Given the description of an element on the screen output the (x, y) to click on. 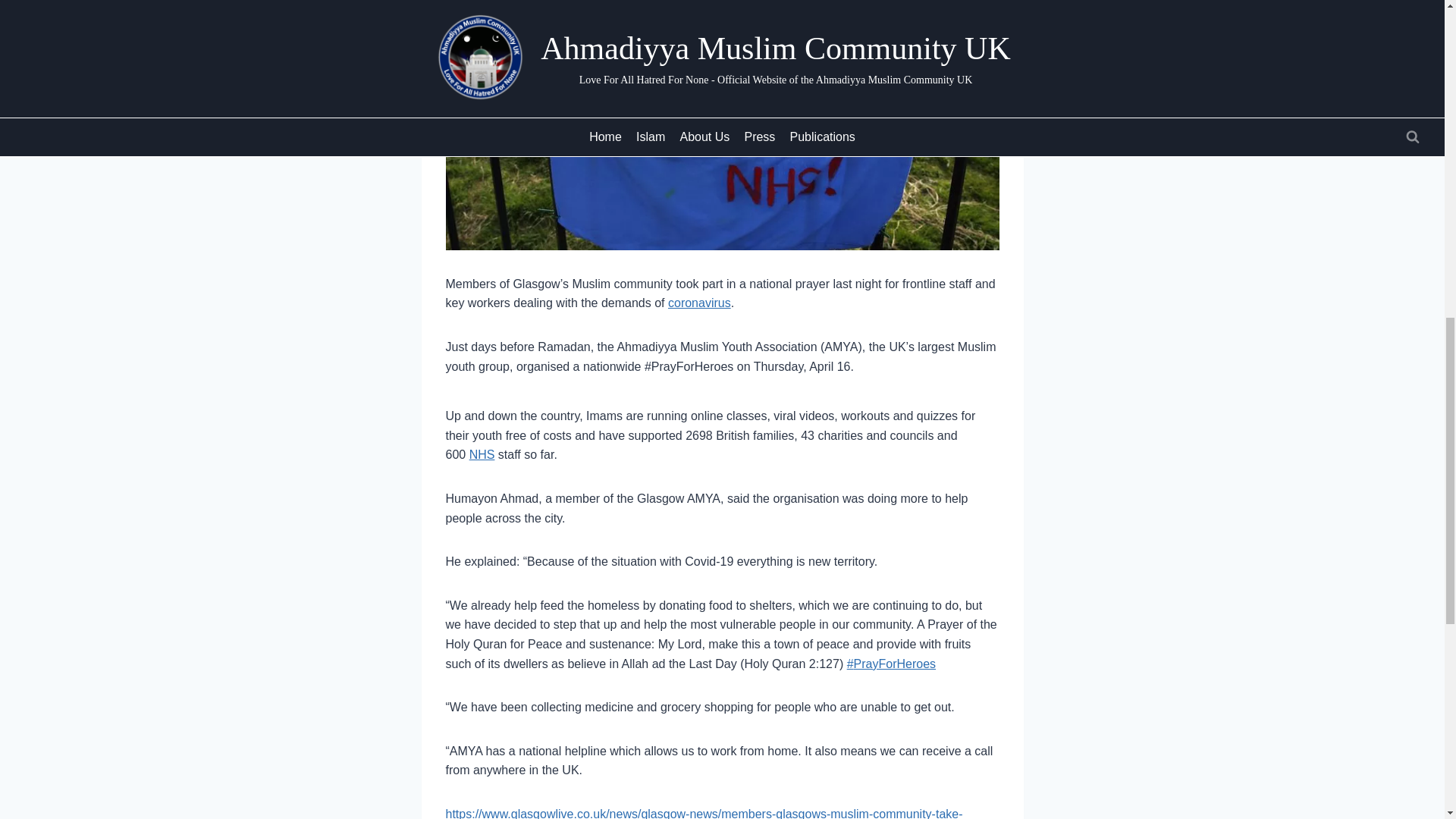
NHS (481, 454)
coronavirus (699, 302)
